Given the description of an element on the screen output the (x, y) to click on. 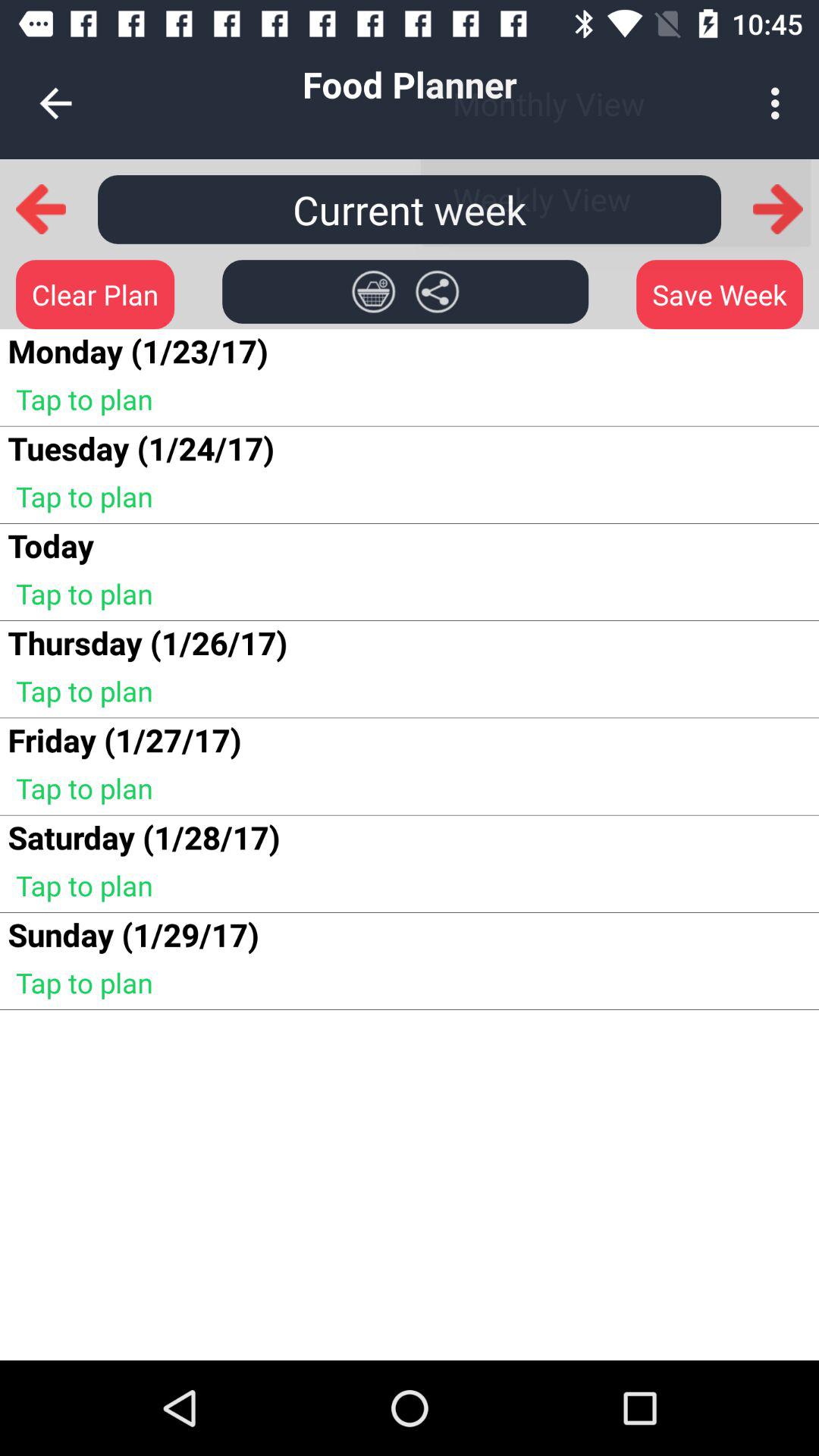
turn on the icon above the current week icon (55, 103)
